Given the description of an element on the screen output the (x, y) to click on. 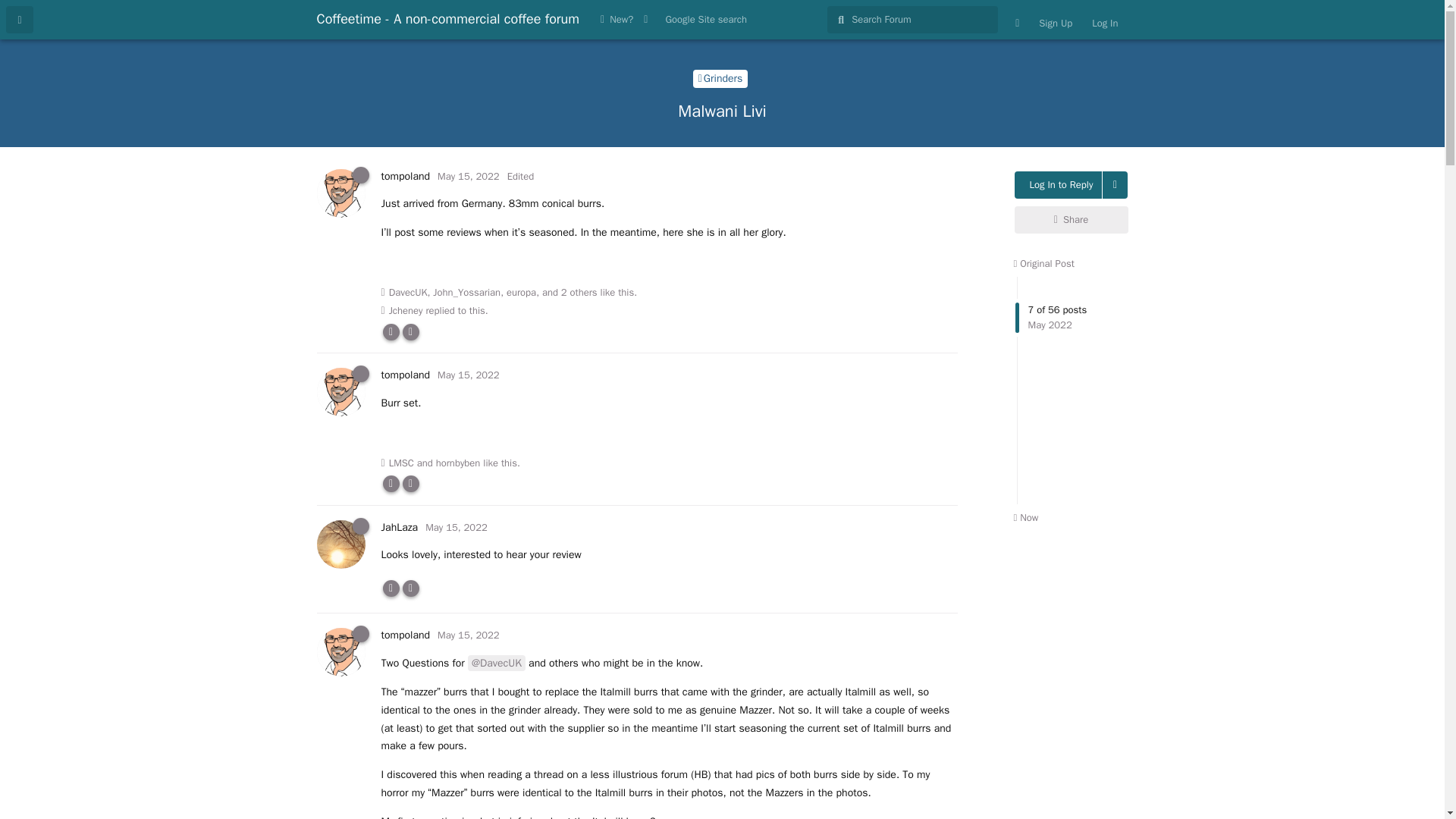
Grinders (720, 78)
Google Site search (705, 19)
tompoland (404, 175)
tompoland (404, 374)
Sunday, May 15, 2022 12:06 PM (468, 175)
Share (1071, 219)
DavecUK (408, 292)
May 15, 2022 (468, 175)
Coffeetime - A non-commercial coffee forum (448, 18)
Log In to Reply (1058, 185)
Sunday, May 15, 2022 12:16 PM (1071, 390)
europa (456, 526)
Jcheney (520, 292)
Original Post (405, 310)
